Given the description of an element on the screen output the (x, y) to click on. 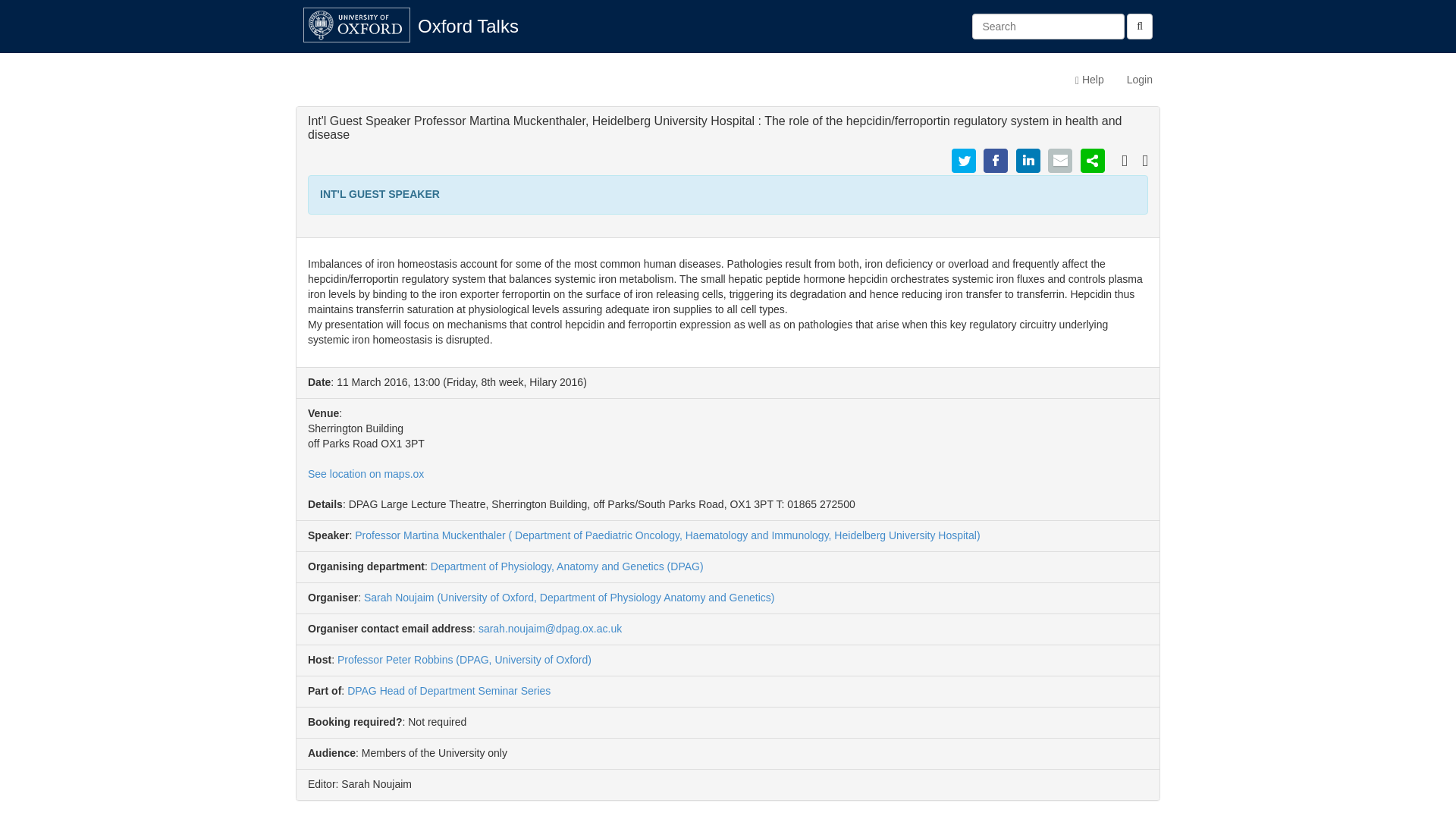
Login (1139, 79)
Help (1089, 79)
Oxford Talks (467, 26)
See location on maps.ox (365, 473)
DPAG Head of Department Seminar Series (448, 690)
